Given the description of an element on the screen output the (x, y) to click on. 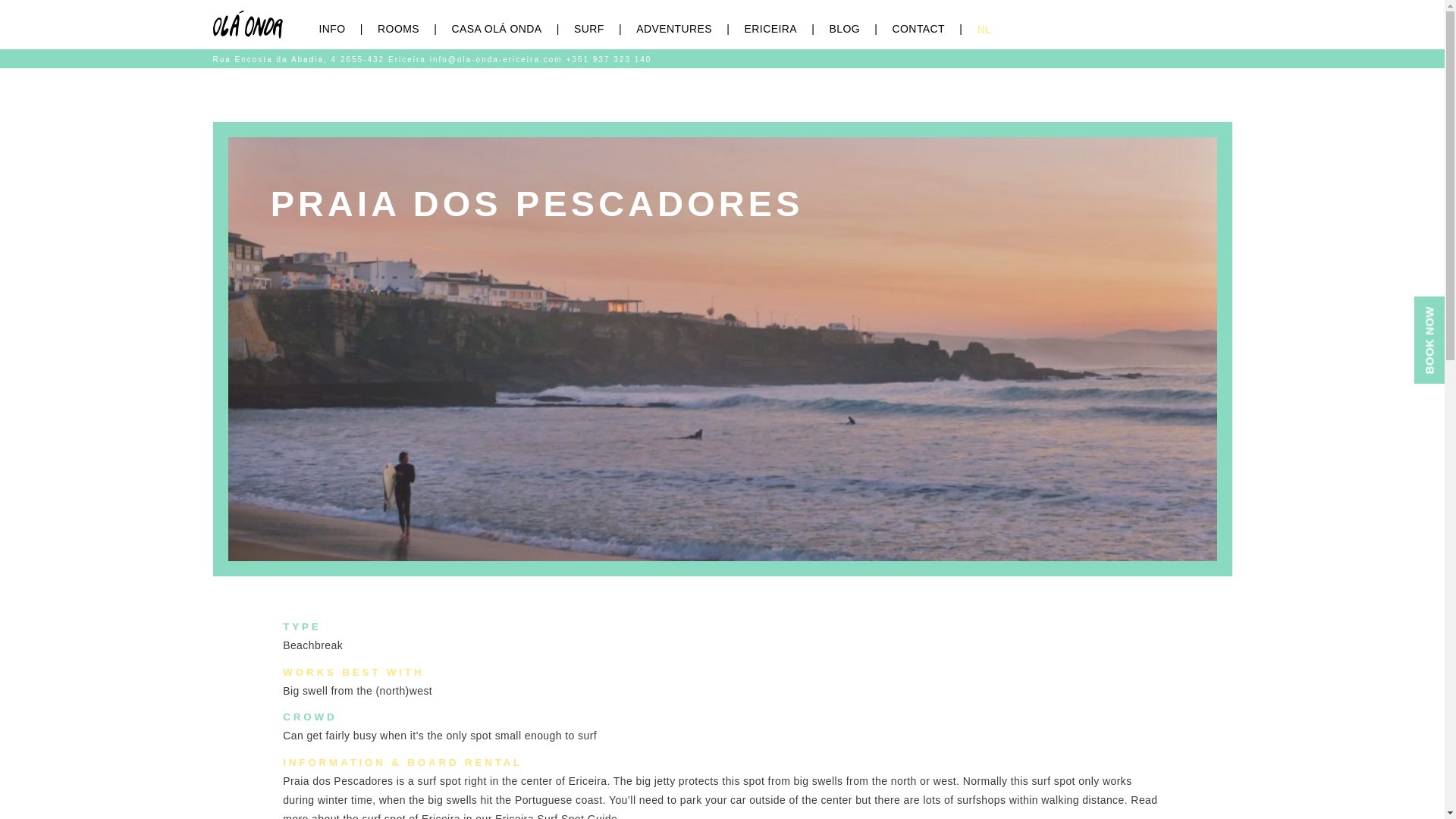
ERICEIRA (786, 28)
CONTACT (934, 28)
ADVENTURES (690, 28)
INFO (347, 28)
SURF (604, 28)
NL (991, 29)
Ericeira Surf Spot Guide (556, 816)
BLOG (859, 28)
NL (991, 29)
ROOMS (414, 28)
